Given the description of an element on the screen output the (x, y) to click on. 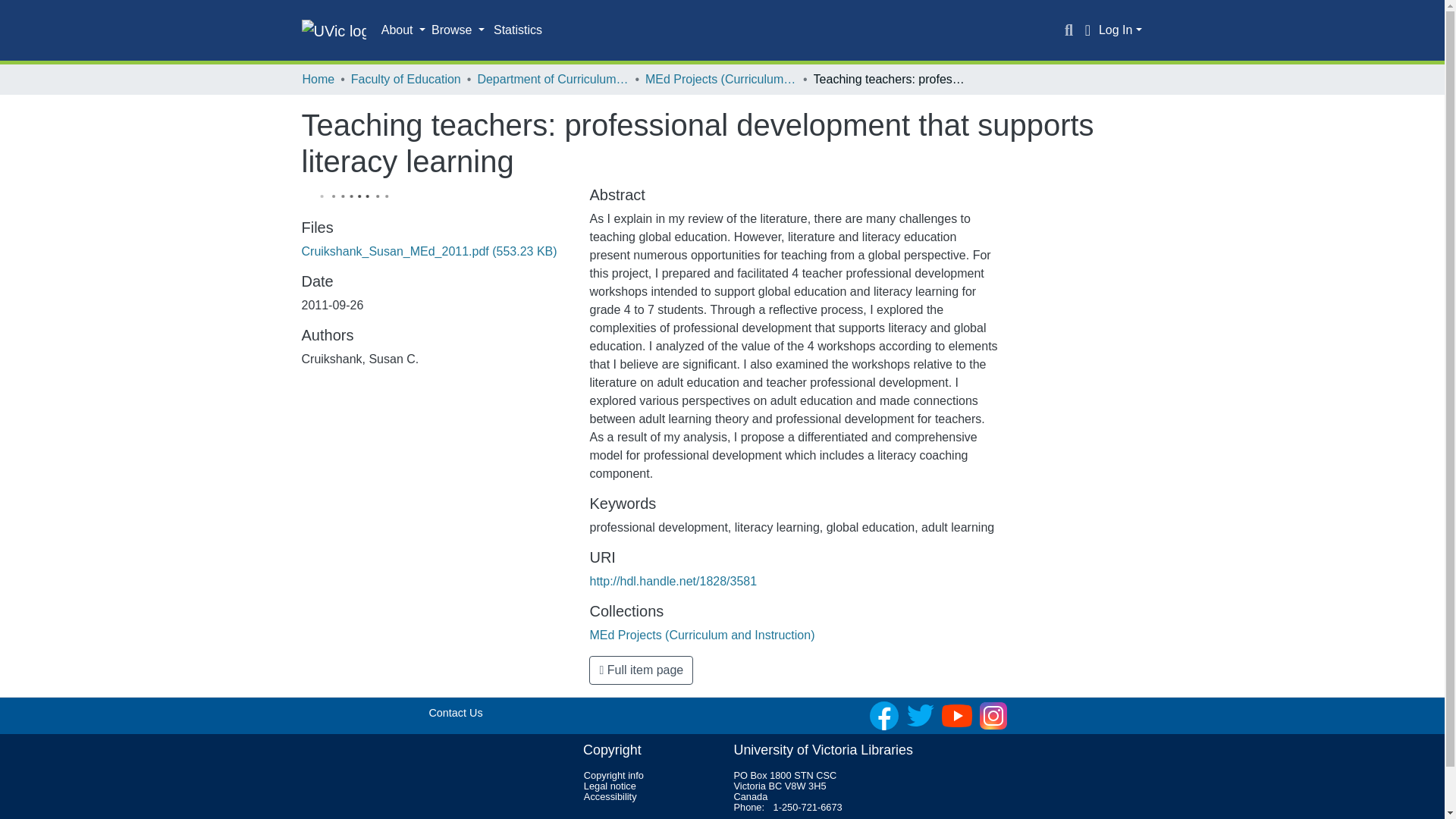
Statistics (517, 30)
Home (317, 79)
Log In (1119, 29)
Faculty of Education (405, 79)
Department of Curriculum and Instruction (552, 79)
Full item page (641, 670)
Contact Us (454, 712)
About (403, 30)
Browse (457, 30)
Search (1068, 30)
